Given the description of an element on the screen output the (x, y) to click on. 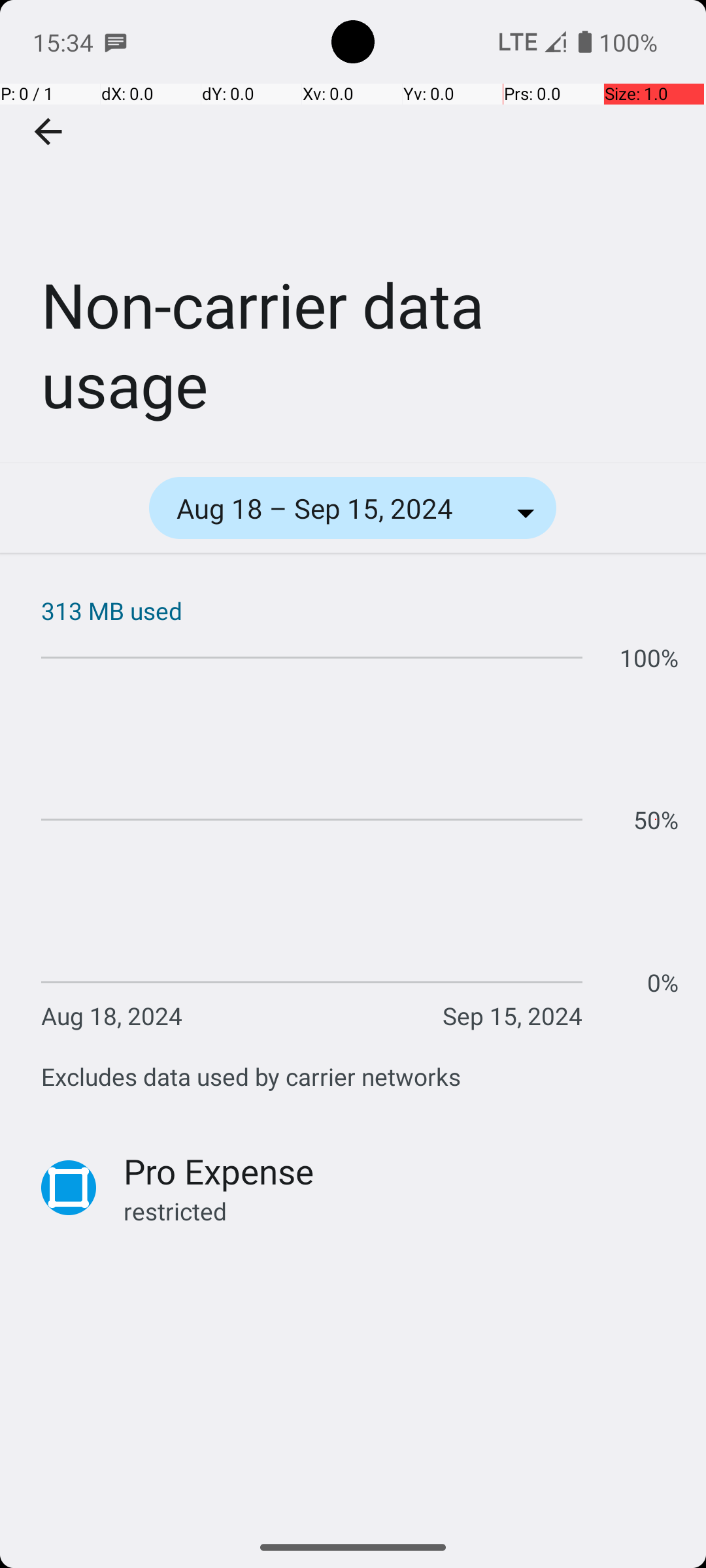
Non-carrier data usage Element type: android.widget.FrameLayout (353, 231)
Aug 18 – Sep 15, 2024 Element type: android.widget.TextView (332, 507)
313 MB used Element type: android.widget.TextView (359, 610)
Graph showing data usage between Aug 18, 2024 and Sep 15, 2024.;Aug 18 – Sep 11, 2024 0%;Sep 11, 2024 30%;Sep 12 – 14, 2024 34%;Sep 14, 2024 100% Element type: android.widget.FrameLayout (359, 836)
Excludes data used by carrier networks Element type: android.widget.TextView (251, 1076)
restricted Element type: android.widget.TextView (400, 1210)
50% Element type: android.widget.TextView (655, 819)
0% Element type: android.widget.TextView (662, 981)
Aug 18, 2024 Element type: android.widget.TextView (111, 1015)
Sep 15, 2024 Element type: android.widget.TextView (512, 1015)
